Given the description of an element on the screen output the (x, y) to click on. 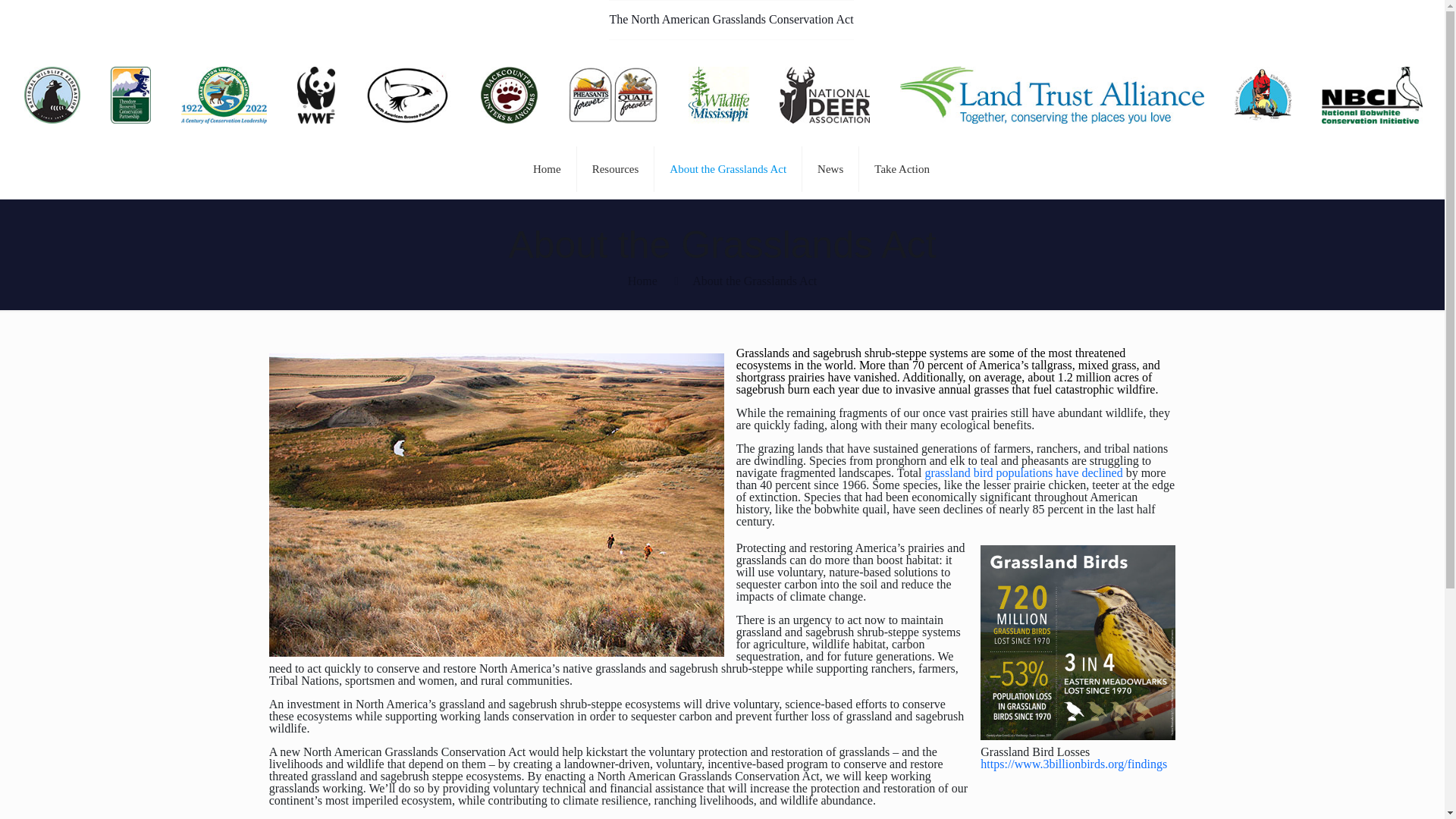
About the Grasslands Act (727, 168)
Resources (615, 168)
Home (547, 168)
News (830, 168)
Take Action (901, 168)
